Given the description of an element on the screen output the (x, y) to click on. 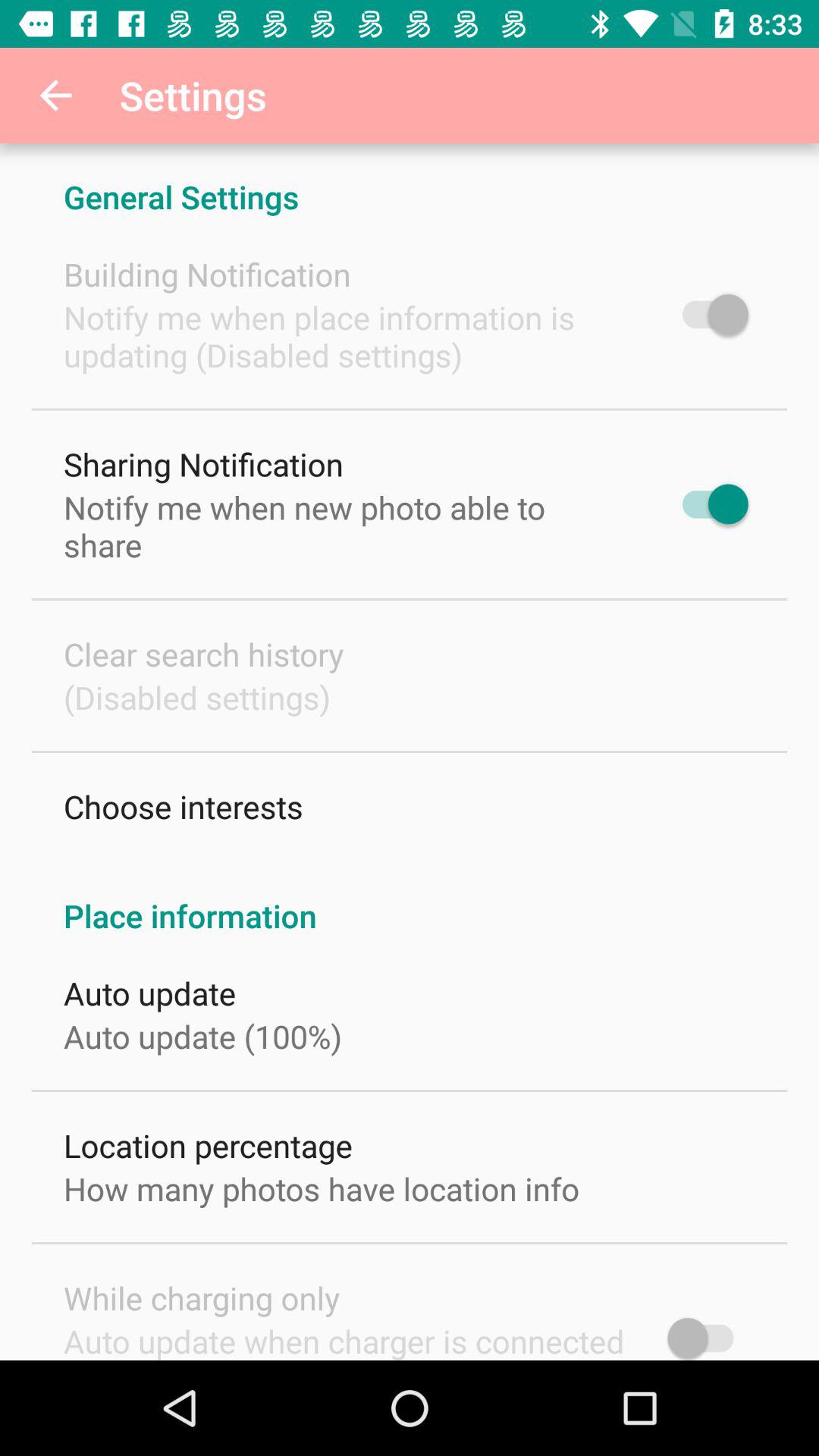
press the icon below general settings icon (206, 273)
